Given the description of an element on the screen output the (x, y) to click on. 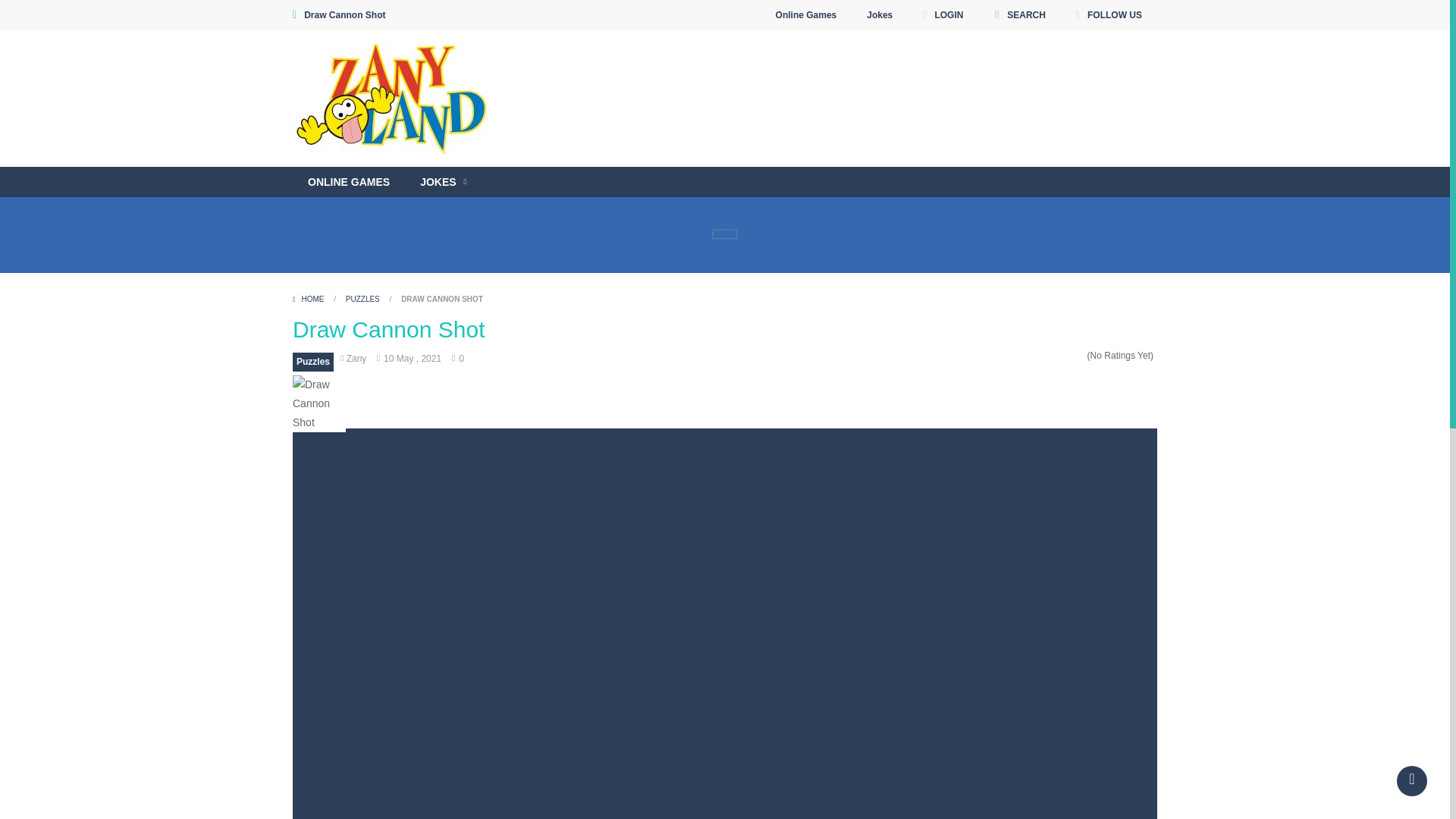
Jokes (880, 15)
ONLINE GAMES (348, 182)
JOKES (442, 182)
YouTube video player (817, 160)
Play Free Games at ZanyLand (394, 97)
Play Free Games at ZanyLand (394, 98)
SEARCH (1019, 15)
LOGIN (942, 15)
FOLLOW US (1108, 15)
Online Games (806, 15)
